Given the description of an element on the screen output the (x, y) to click on. 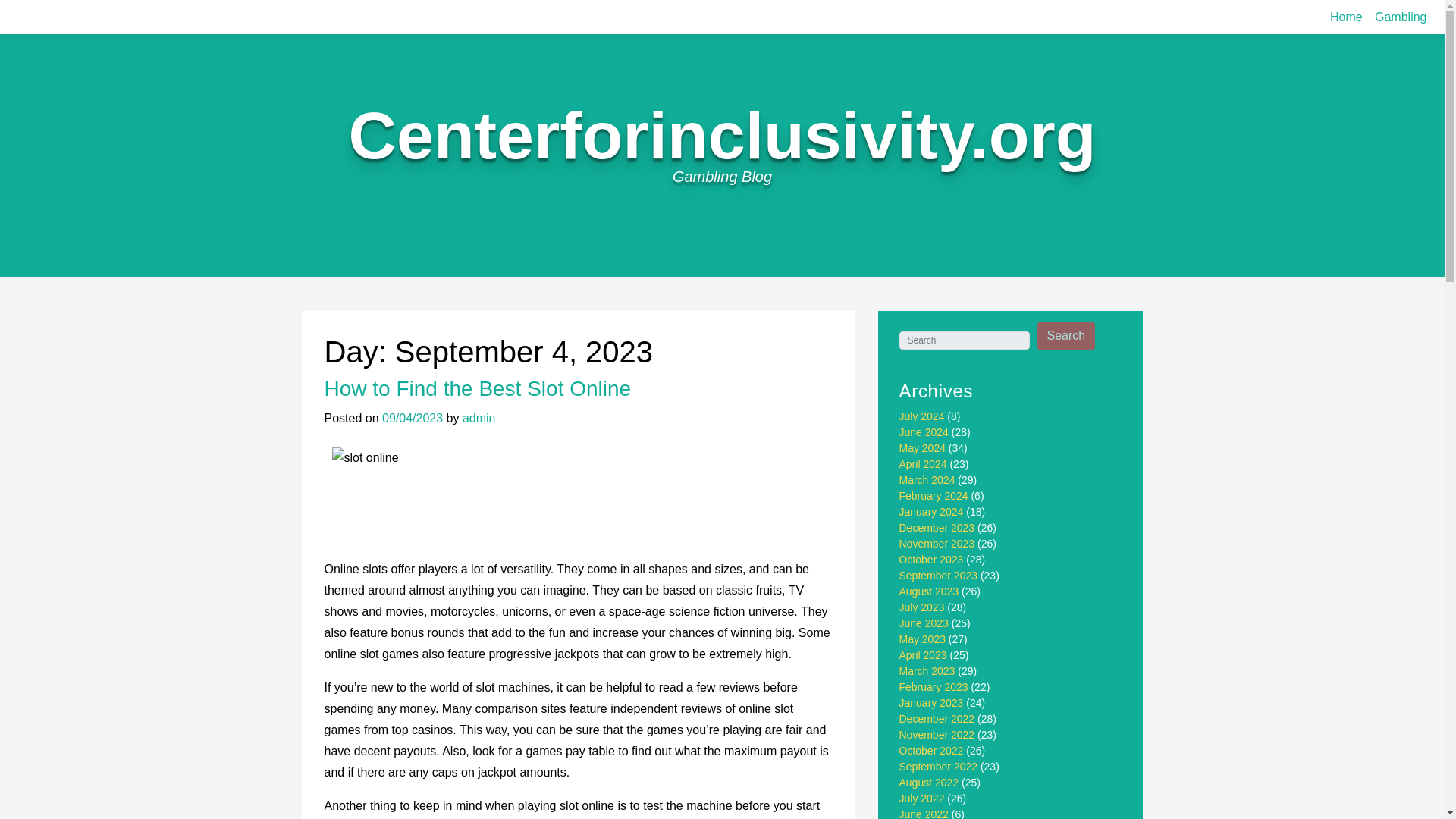
July 2024 (921, 416)
Home (1345, 16)
Search (1066, 335)
April 2024 (923, 463)
June 2023 (924, 623)
October 2022 (931, 750)
February 2024 (933, 495)
How to Find the Best Slot Online (477, 388)
December 2023 (937, 527)
January 2024 (931, 511)
Gambling (1400, 16)
September 2022 (938, 766)
admin (479, 418)
May 2023 (921, 639)
September 2023 (938, 575)
